Given the description of an element on the screen output the (x, y) to click on. 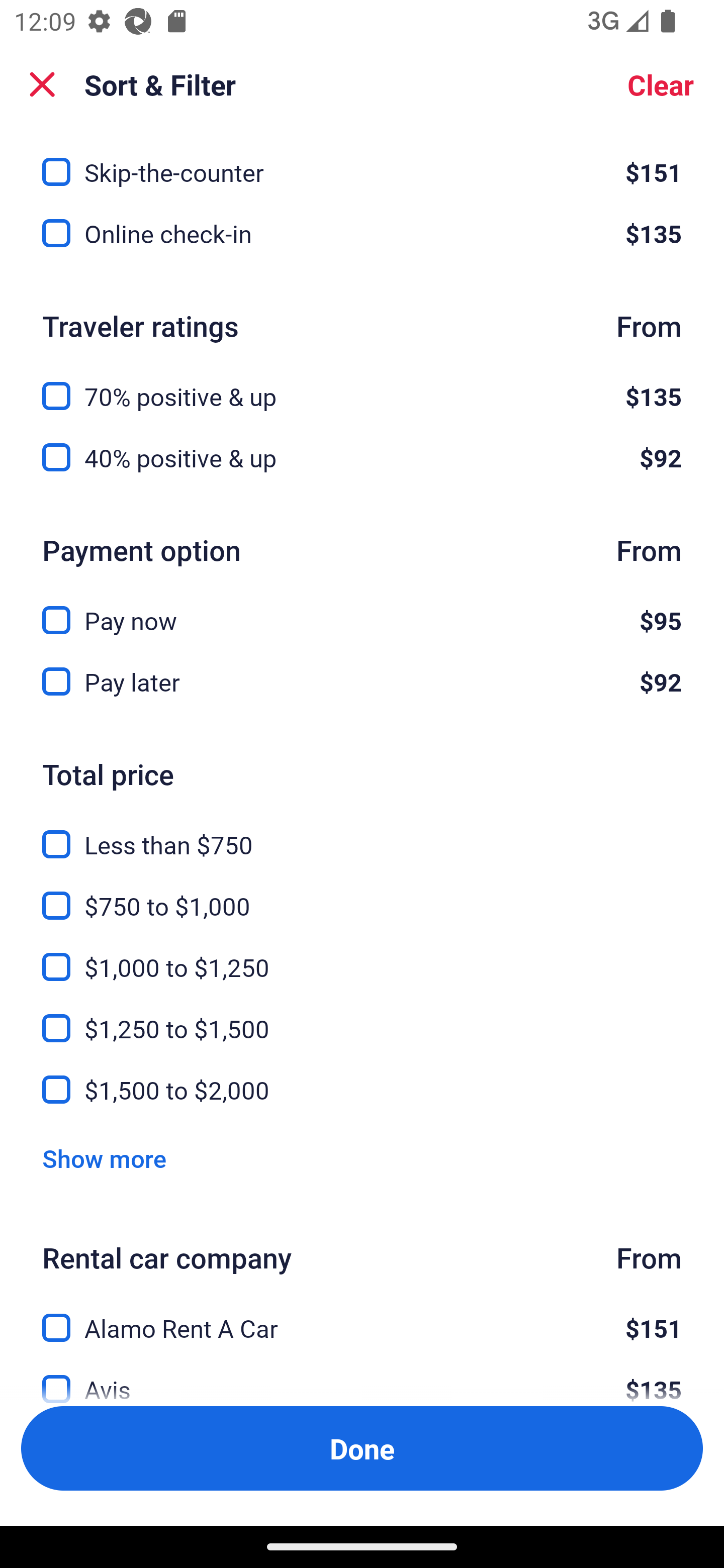
Close Sort and Filter (42, 84)
Clear (660, 84)
Skip-the-counter, $151 Skip-the-counter $151 (361, 160)
Online check-in, $135 Online check-in $135 (361, 233)
70% positive & up, $135 70% positive & up $135 (361, 384)
40% positive & up, $92 40% positive & up $92 (361, 457)
Pay now, $95 Pay now $95 (361, 608)
Pay later, $92 Pay later $92 (361, 681)
Less than $750, Less than $750 (361, 832)
$750 to $1,000, $750 to $1,000 (361, 894)
$1,000 to $1,250, $1,000 to $1,250 (361, 955)
$1,250 to $1,500, $1,250 to $1,500 (361, 1016)
$1,500 to $2,000, $1,500 to $2,000 (361, 1089)
Show more Show more Link (103, 1158)
Alamo Rent A Car, $151 Alamo Rent A Car $151 (361, 1315)
Avis, $135 Avis $135 (361, 1376)
Apply and close Sort and Filter Done (361, 1448)
